Given the description of an element on the screen output the (x, y) to click on. 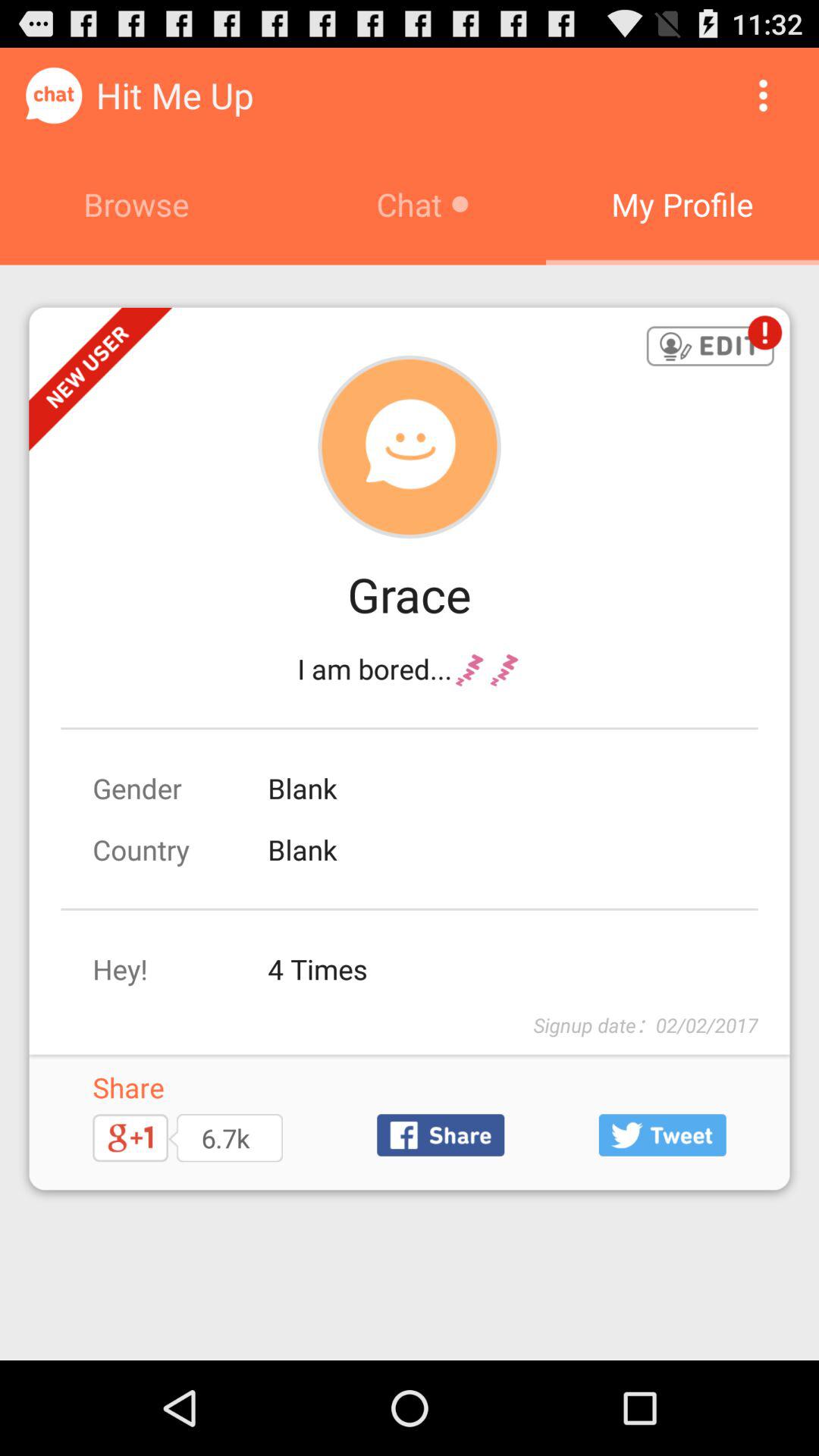
launch the icon below my profile item (709, 347)
